Given the description of an element on the screen output the (x, y) to click on. 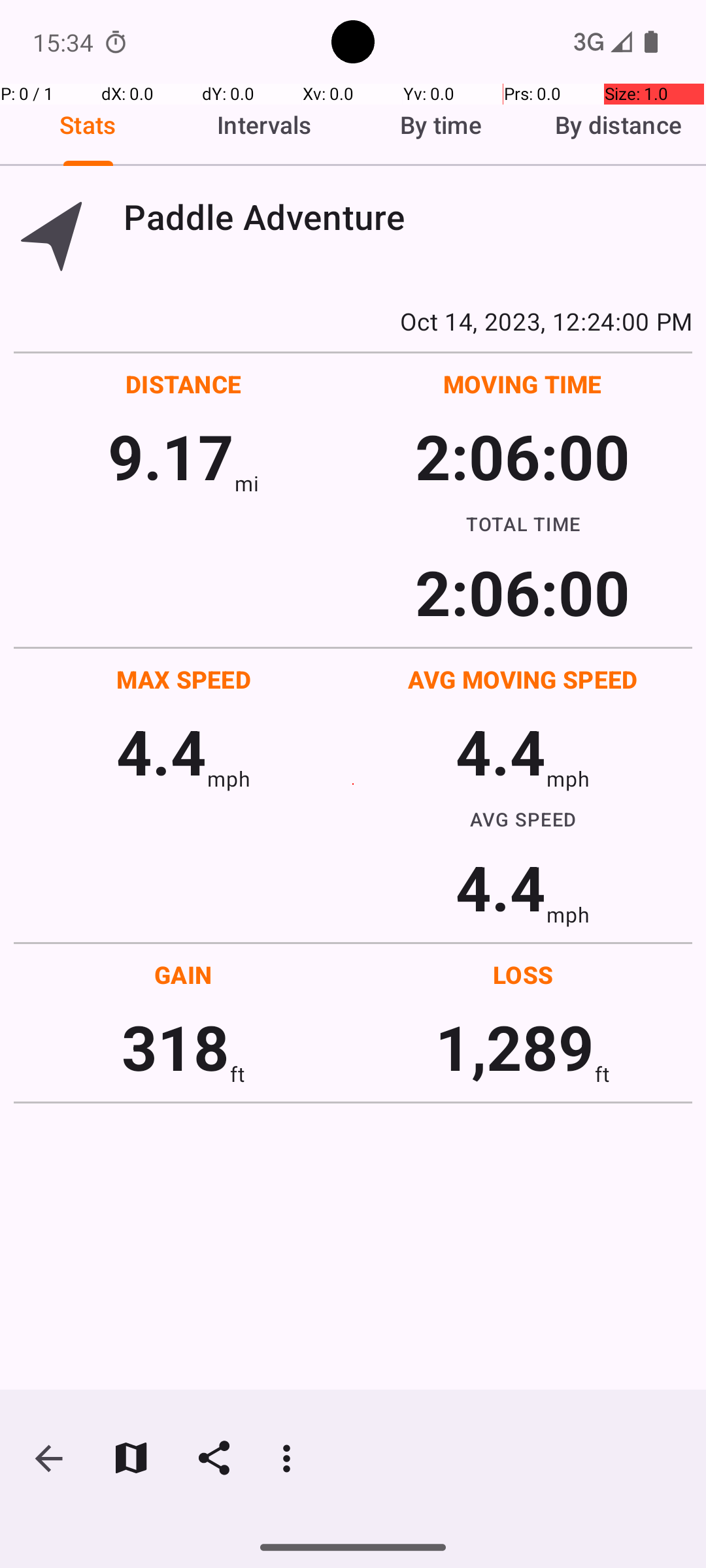
Paddle Adventure Element type: android.widget.TextView (407, 216)
Oct 14, 2023, 12:24:00 PM Element type: android.widget.TextView (352, 320)
9.17 Element type: android.widget.TextView (170, 455)
2:06:00 Element type: android.widget.TextView (522, 455)
4.4 Element type: android.widget.TextView (161, 750)
318 Element type: android.widget.TextView (175, 1045)
1,289 Element type: android.widget.TextView (514, 1045)
